Given the description of an element on the screen output the (x, y) to click on. 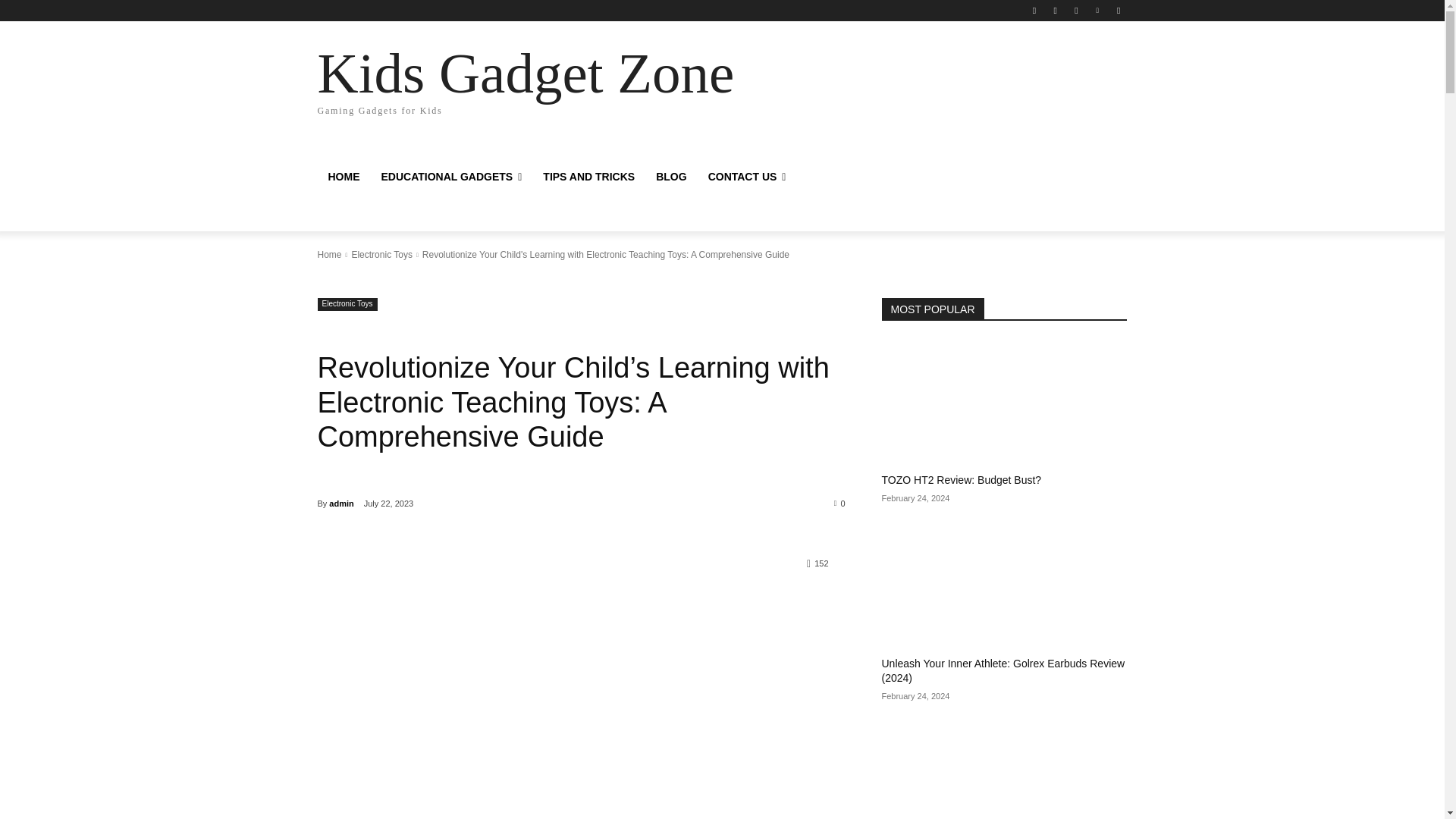
Facebook (1034, 9)
Vimeo (1097, 9)
Electronic Toys (347, 304)
Home (328, 254)
0 (839, 501)
BLOG (671, 176)
View all posts in Electronic Toys (381, 254)
TIPS AND TRICKS (588, 176)
Instagram (1055, 9)
Twitter (1075, 9)
CONTACT US (425, 79)
admin (746, 176)
EDUCATIONAL GADGETS (341, 503)
HOME (450, 176)
